Given the description of an element on the screen output the (x, y) to click on. 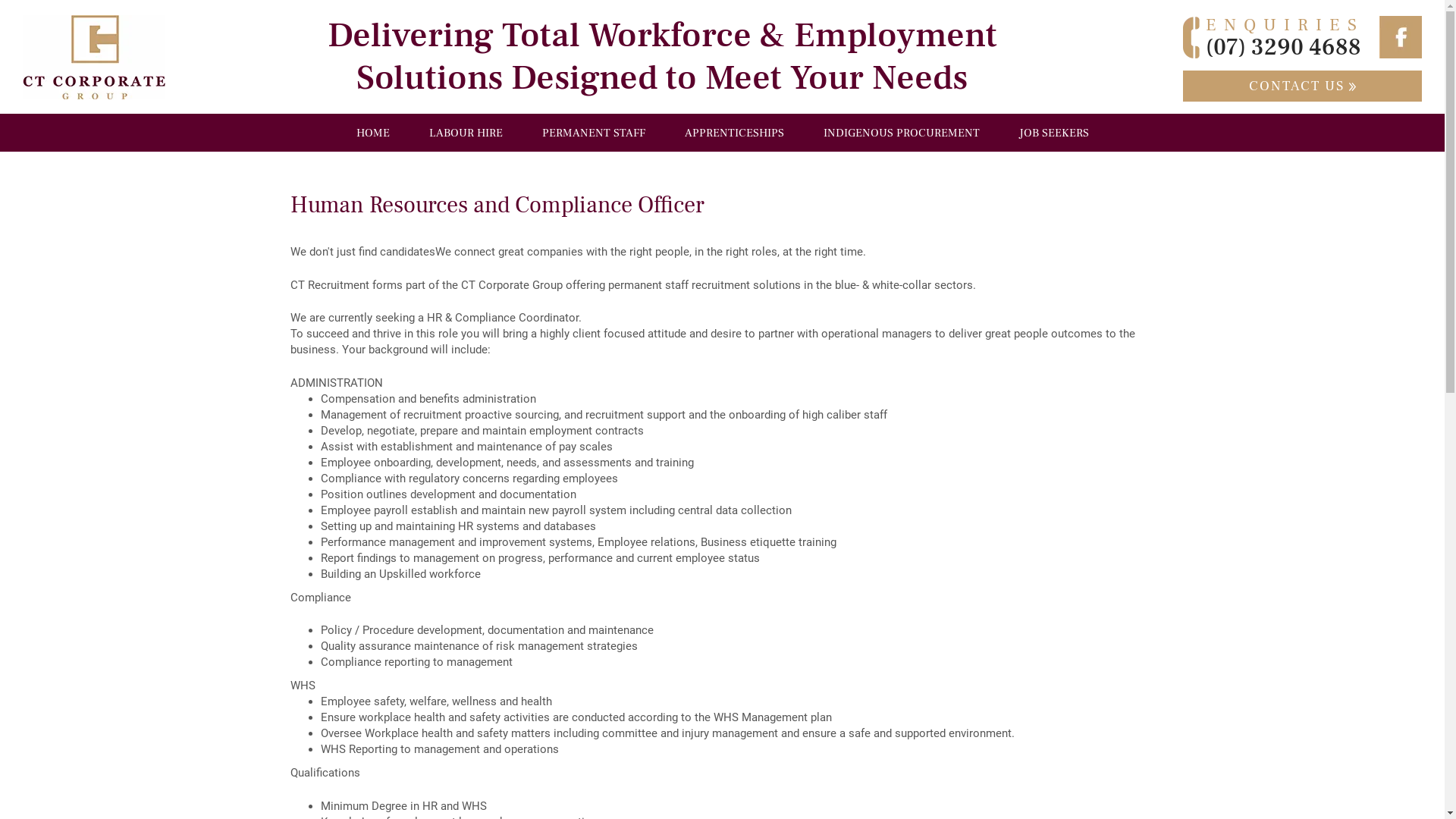
JOB SEEKERS Element type: text (1052, 132)
CONTACT US Element type: text (1302, 86)
facebook Element type: text (1400, 36)
HOME Element type: text (371, 132)
PERMANENT STAFF Element type: text (593, 132)
ENQUIRIES
(07) 3290 4688 Element type: text (1273, 37)
INDIGENOUS PROCUREMENT Element type: text (900, 132)
LABOUR HIRE Element type: text (464, 132)
APPRENTICESHIPS Element type: text (734, 132)
